Given the description of an element on the screen output the (x, y) to click on. 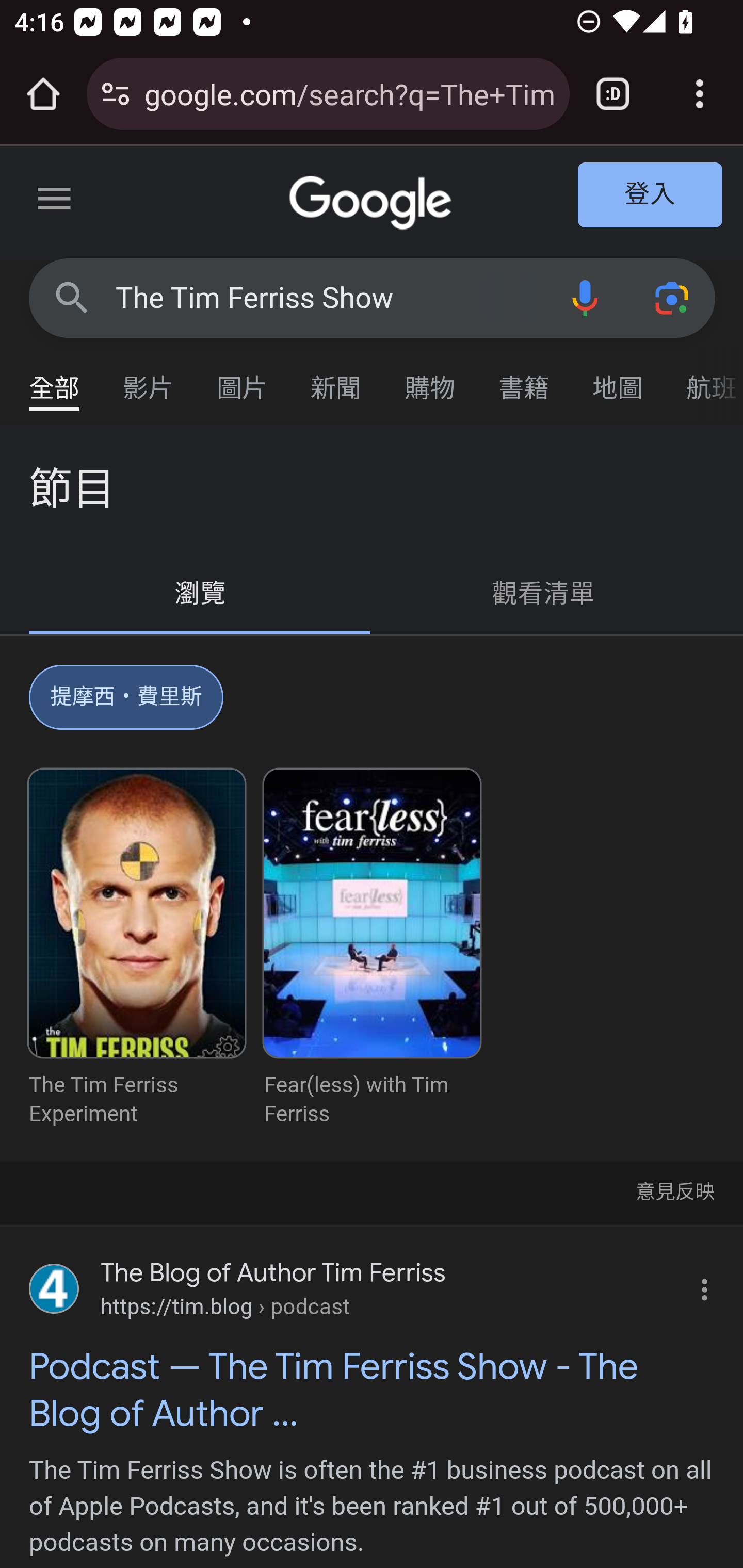
Open the home page (43, 93)
Connection is secure (115, 93)
Switch or close tabs (612, 93)
Customize and control Google Chrome (699, 93)
主選單 (54, 202)
Google (372, 203)
登入 (650, 195)
Google 搜尋 (71, 296)
使用相機或相片搜尋 (672, 296)
The Tim Ferriss Show (328, 297)
影片 (148, 378)
圖片 (242, 378)
新聞 (336, 378)
購物 (430, 378)
書籍 (524, 378)
地圖 (618, 378)
航班 (703, 378)
瀏覽 (200, 594)
觀看清單 (544, 594)
提摩西・費里斯 (126, 701)
The Tim Ferriss Experiment (136, 949)
Fear(less) with Tim Ferriss (371, 949)
意見反映 (673, 1189)
